Given the description of an element on the screen output the (x, y) to click on. 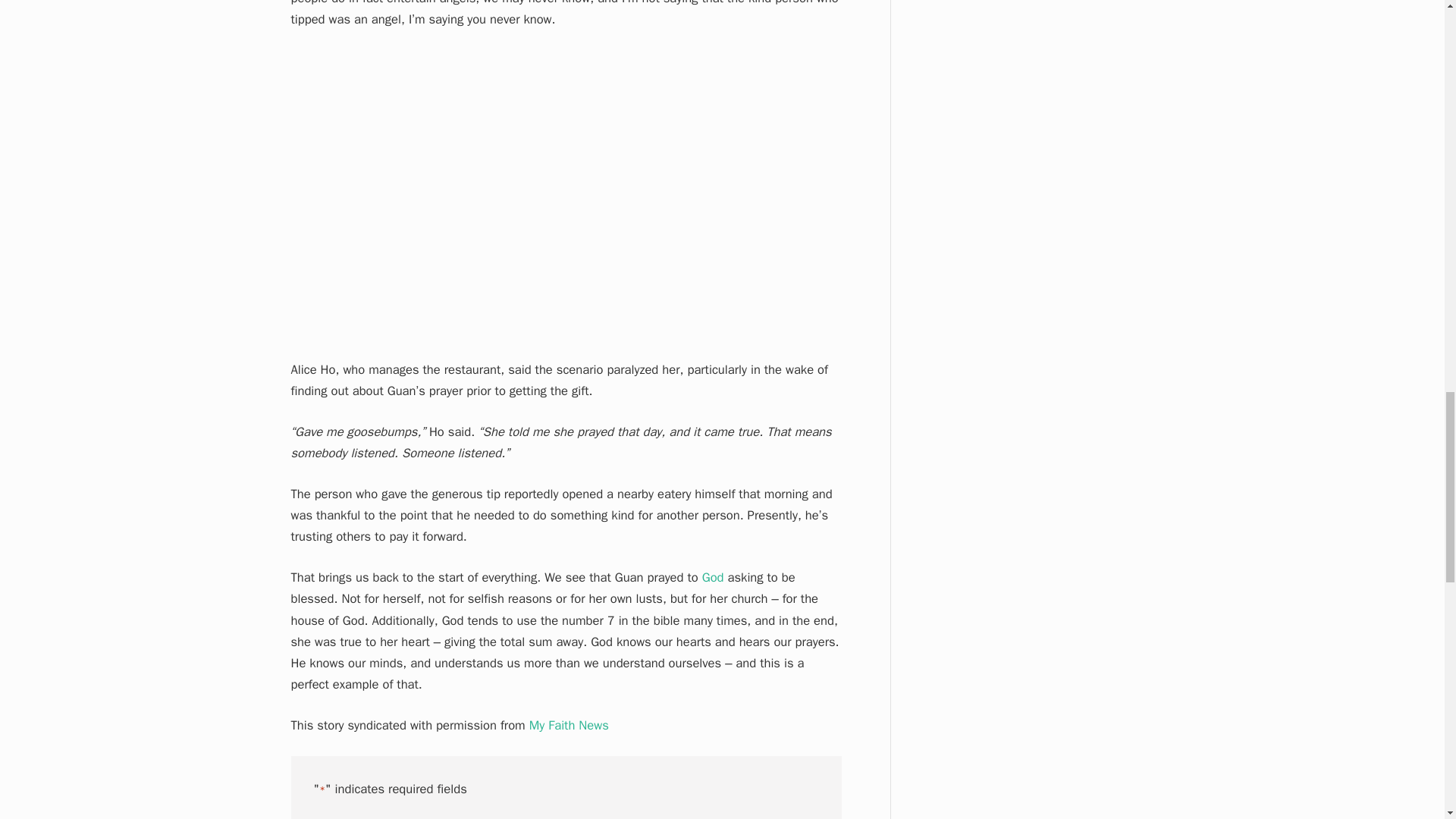
My Faith News (568, 725)
God (712, 577)
